Given the description of an element on the screen output the (x, y) to click on. 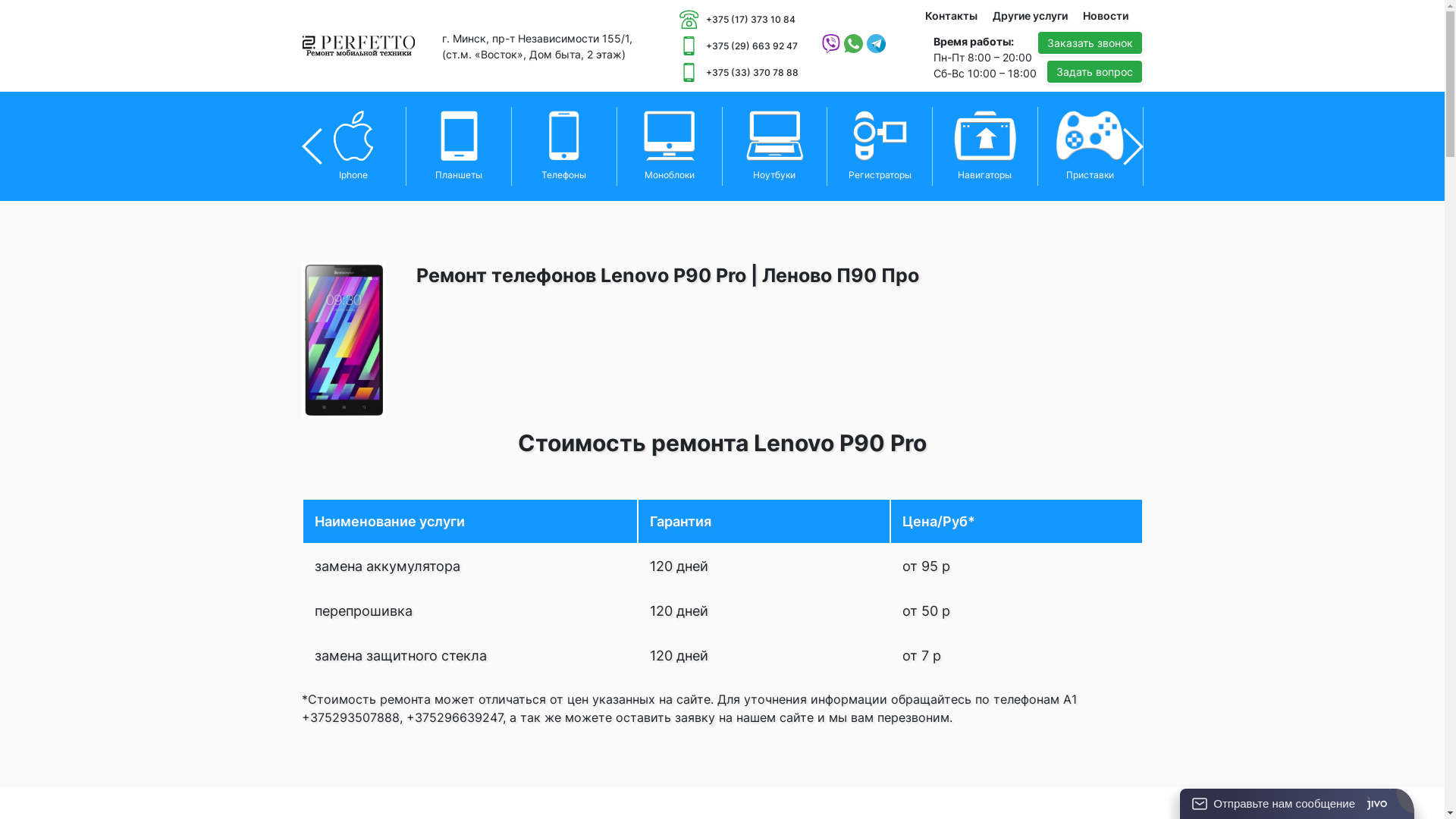
Iphone Element type: text (354, 145)
+375 (33) 370 78 88 Element type: text (738, 71)
+375 (17) 373 10 84 Element type: text (738, 18)
+375 (29) 663 92 47 Element type: text (738, 45)
